Given the description of an element on the screen output the (x, y) to click on. 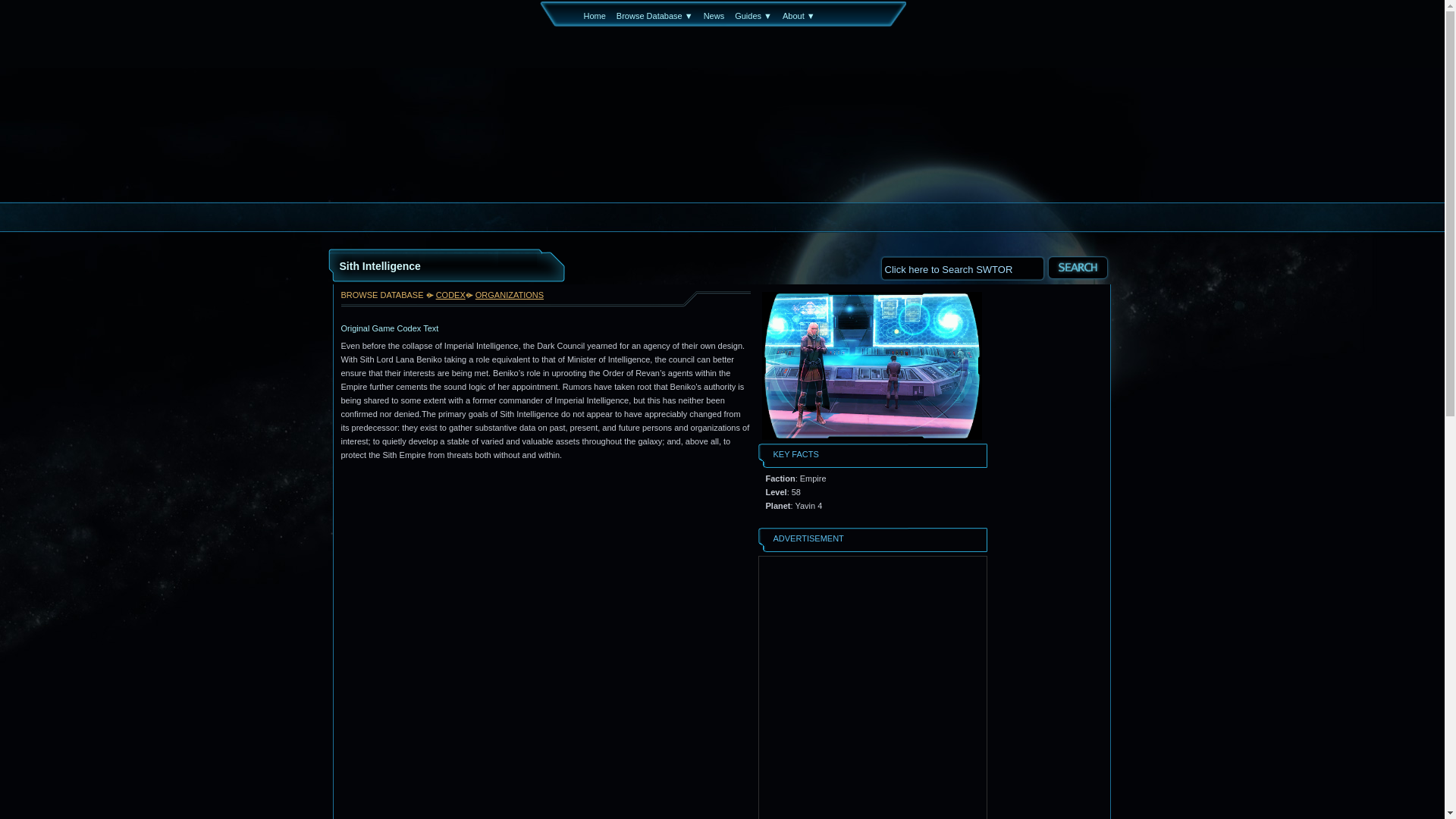
Click here to Search SWTOR (961, 267)
Home (594, 15)
